Given the description of an element on the screen output the (x, y) to click on. 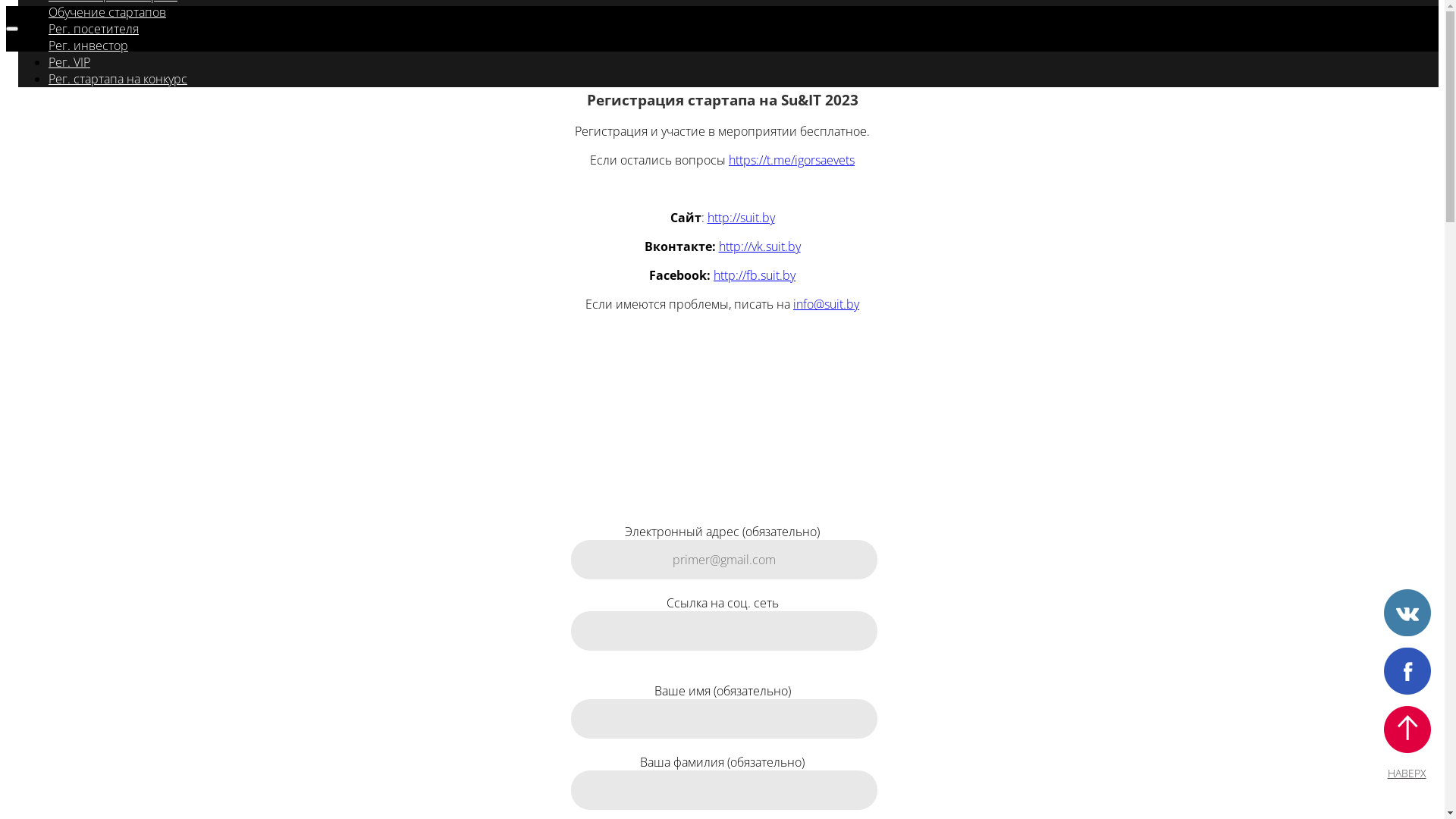
http://suit.by Element type: text (740, 217)
http://fb.suit.by Element type: text (754, 274)
http://vk.suit.by Element type: text (759, 246)
info@suit.by Element type: text (826, 303)
https://t.me/igorsaevets Element type: text (791, 159)
